Given the description of an element on the screen output the (x, y) to click on. 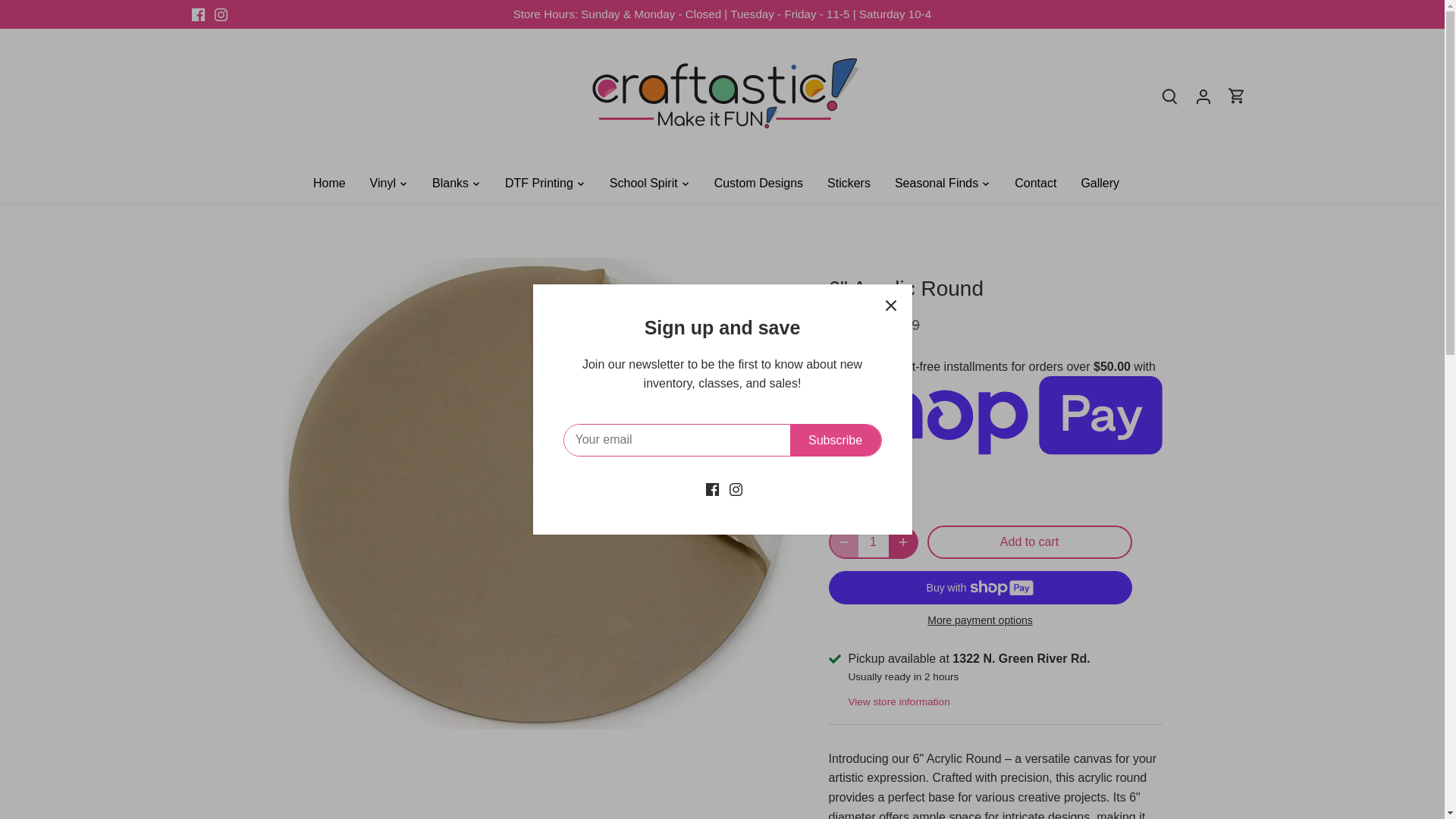
Home (335, 183)
Vinyl (382, 183)
1 (873, 541)
DTF Printing (539, 183)
Facebook (196, 14)
Instagram (220, 14)
Blanks (450, 183)
School Spirit (643, 183)
